Given the description of an element on the screen output the (x, y) to click on. 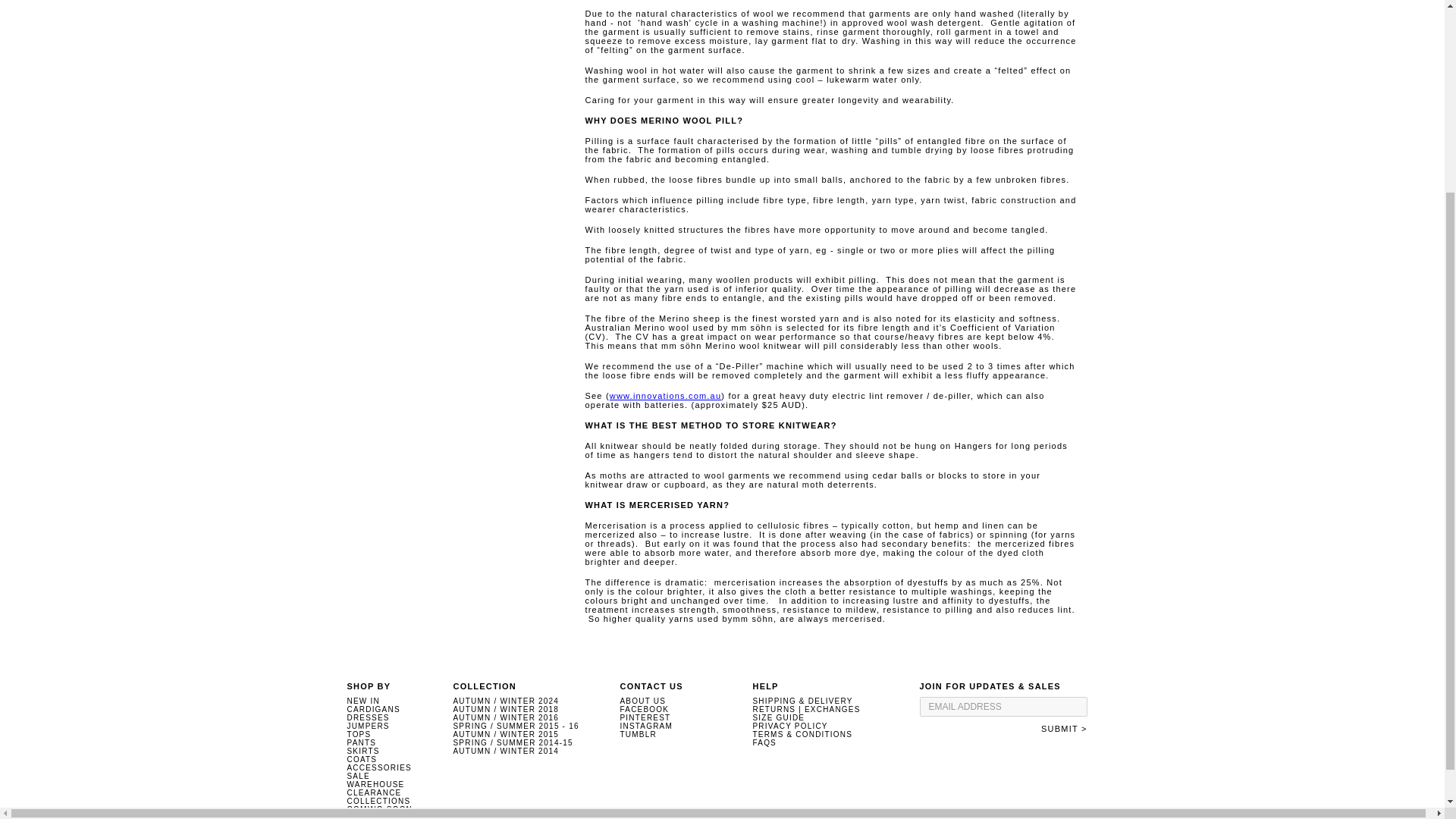
EMAIL ADDRESS (1002, 706)
www.innovations.com.au (665, 395)
NEW IN (363, 700)
